Given the description of an element on the screen output the (x, y) to click on. 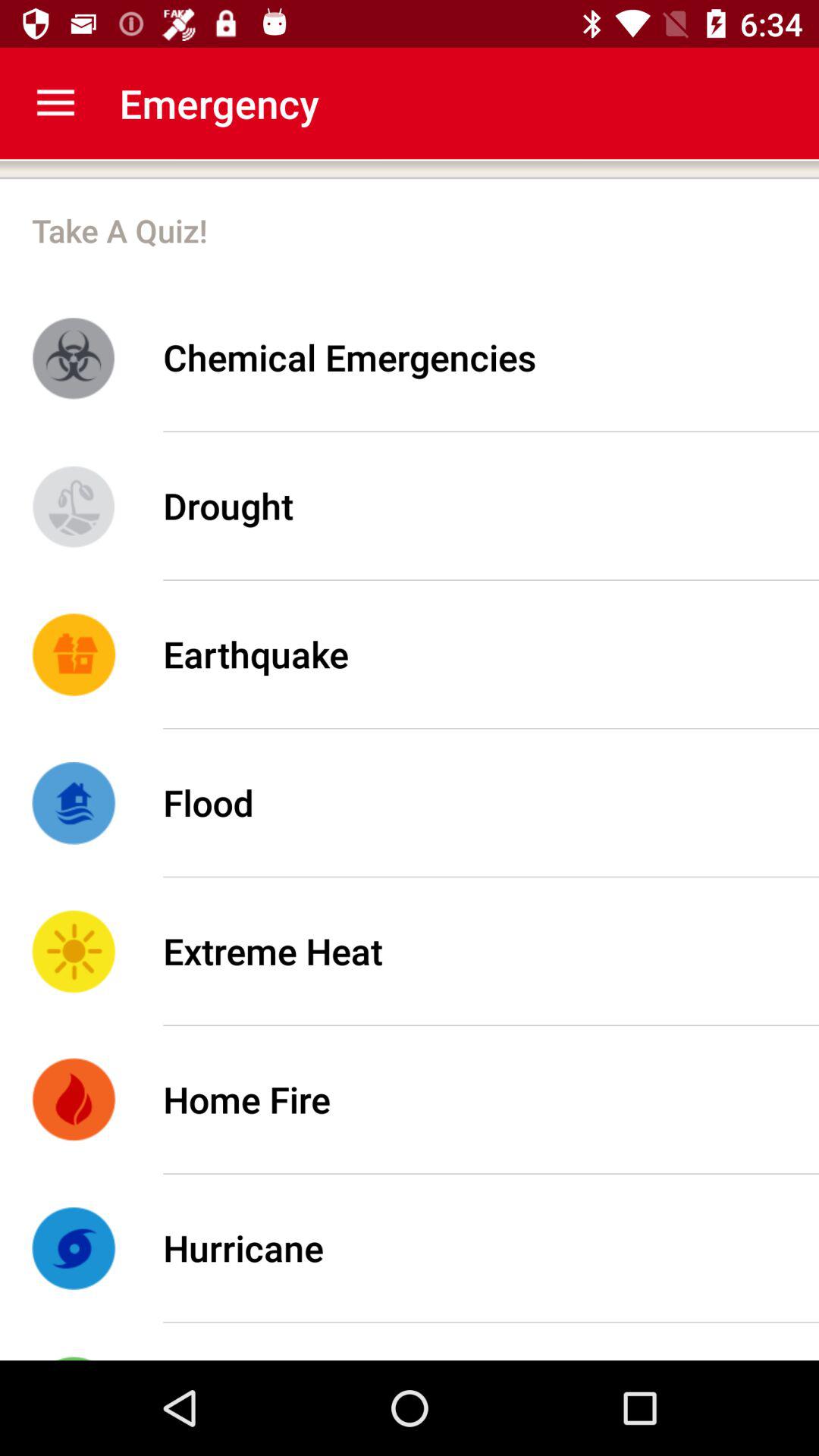
icon left to the text earthquake (73, 653)
